Given the description of an element on the screen output the (x, y) to click on. 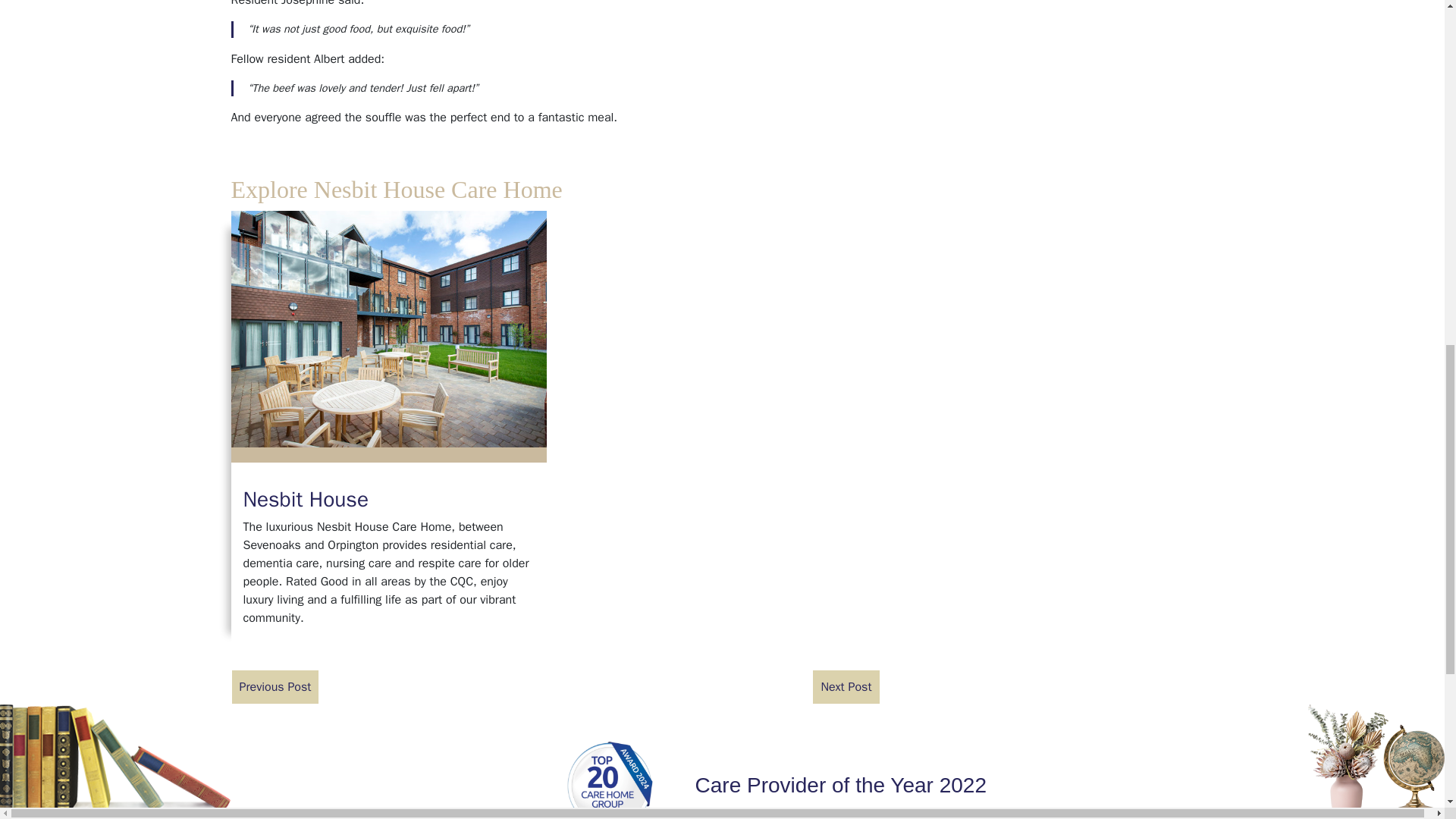
badge (611, 780)
Cofton Park (274, 686)
FooterBooks (115, 759)
FooterGlobe (1375, 759)
Cofton Park (845, 686)
Nesbit House  (388, 328)
